Given the description of an element on the screen output the (x, y) to click on. 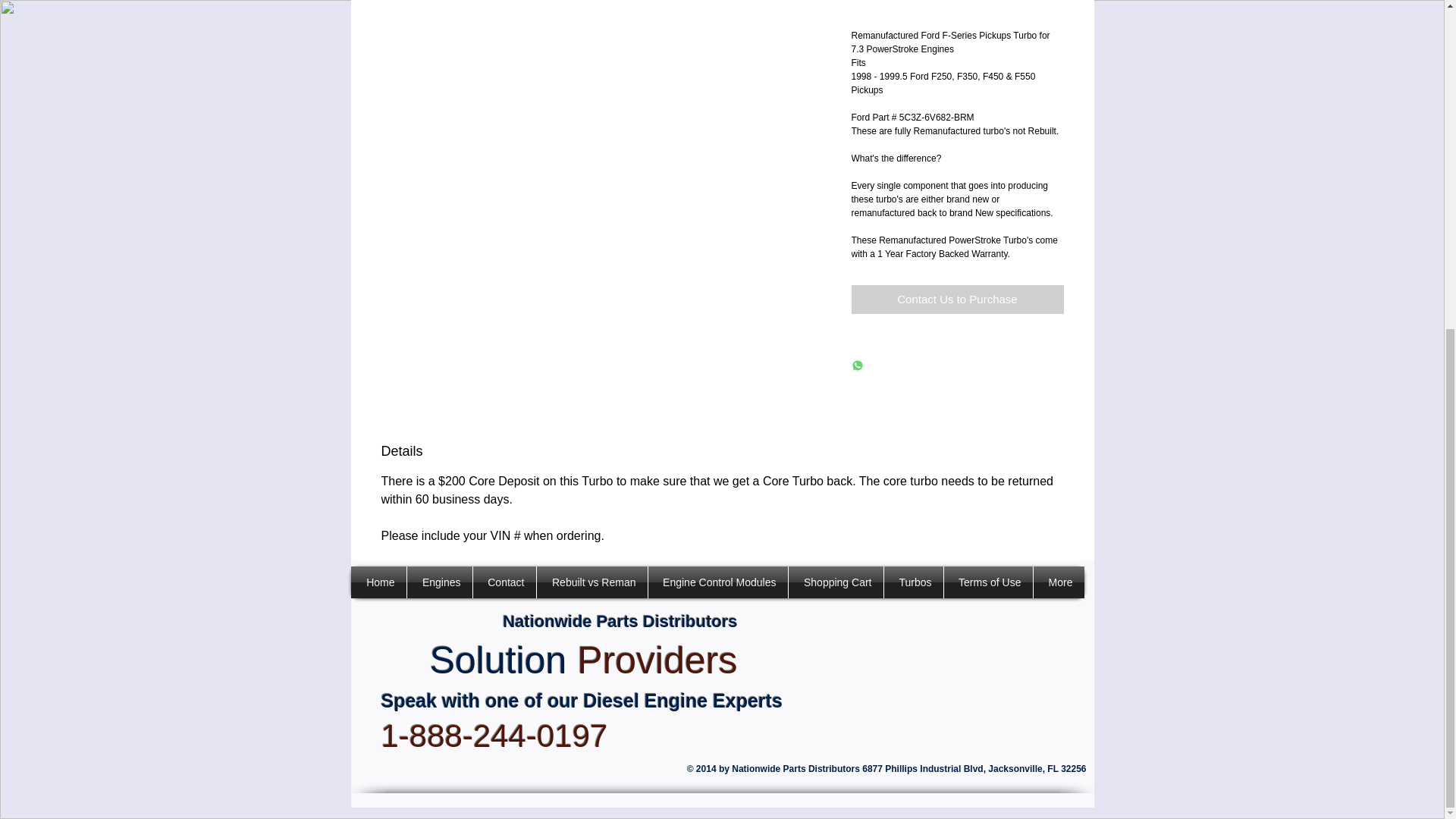
Engine Control Modules (717, 582)
Contact (504, 582)
Contact Us to Purchase (956, 299)
Engines (438, 582)
Rebuilt vs Reman (592, 582)
Home (378, 582)
